Given the description of an element on the screen output the (x, y) to click on. 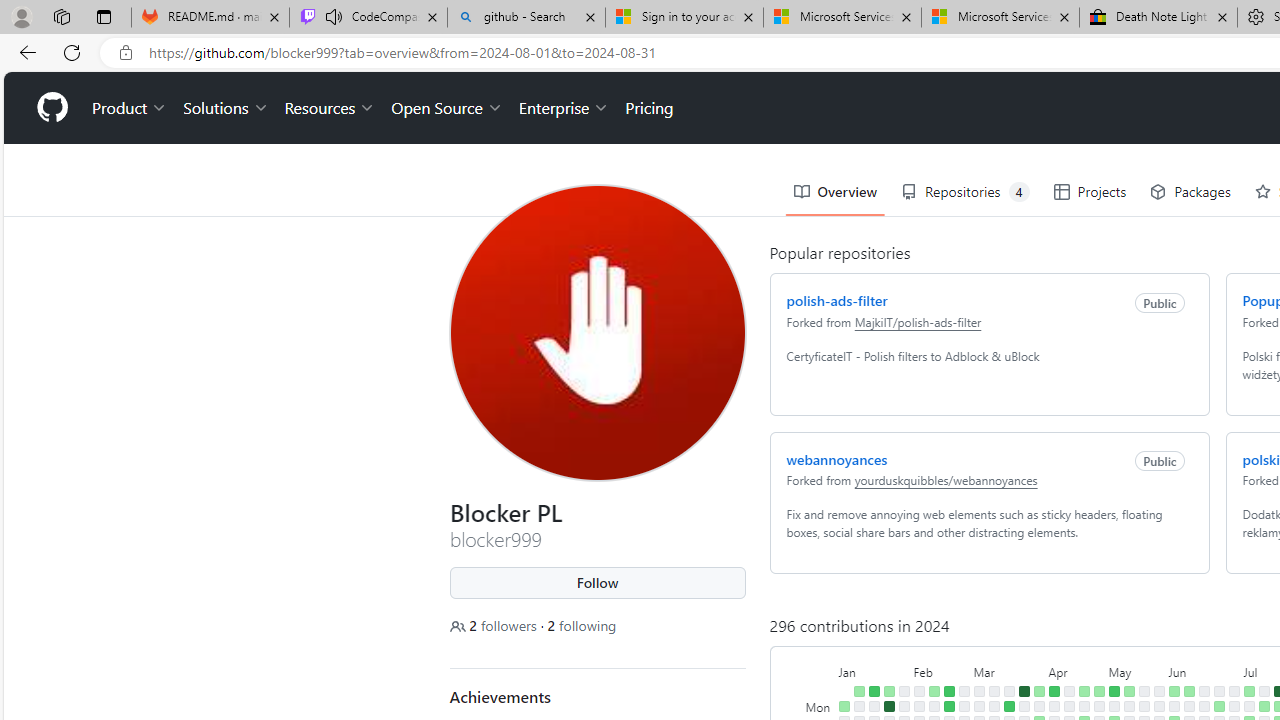
No contributions on February 25th. (963, 691)
4 contributions on January 14th. (873, 691)
yourduskquibbles/webannoyances (945, 480)
5 contributions on April 7th. (1053, 691)
No contributions on May 19th. (1143, 691)
Open Source (446, 107)
2 contributions on June 2nd. (1173, 691)
Overview (834, 192)
View blocker999's full-sized avatar (597, 332)
5 contributions on March 18th. (1009, 706)
